Given the description of an element on the screen output the (x, y) to click on. 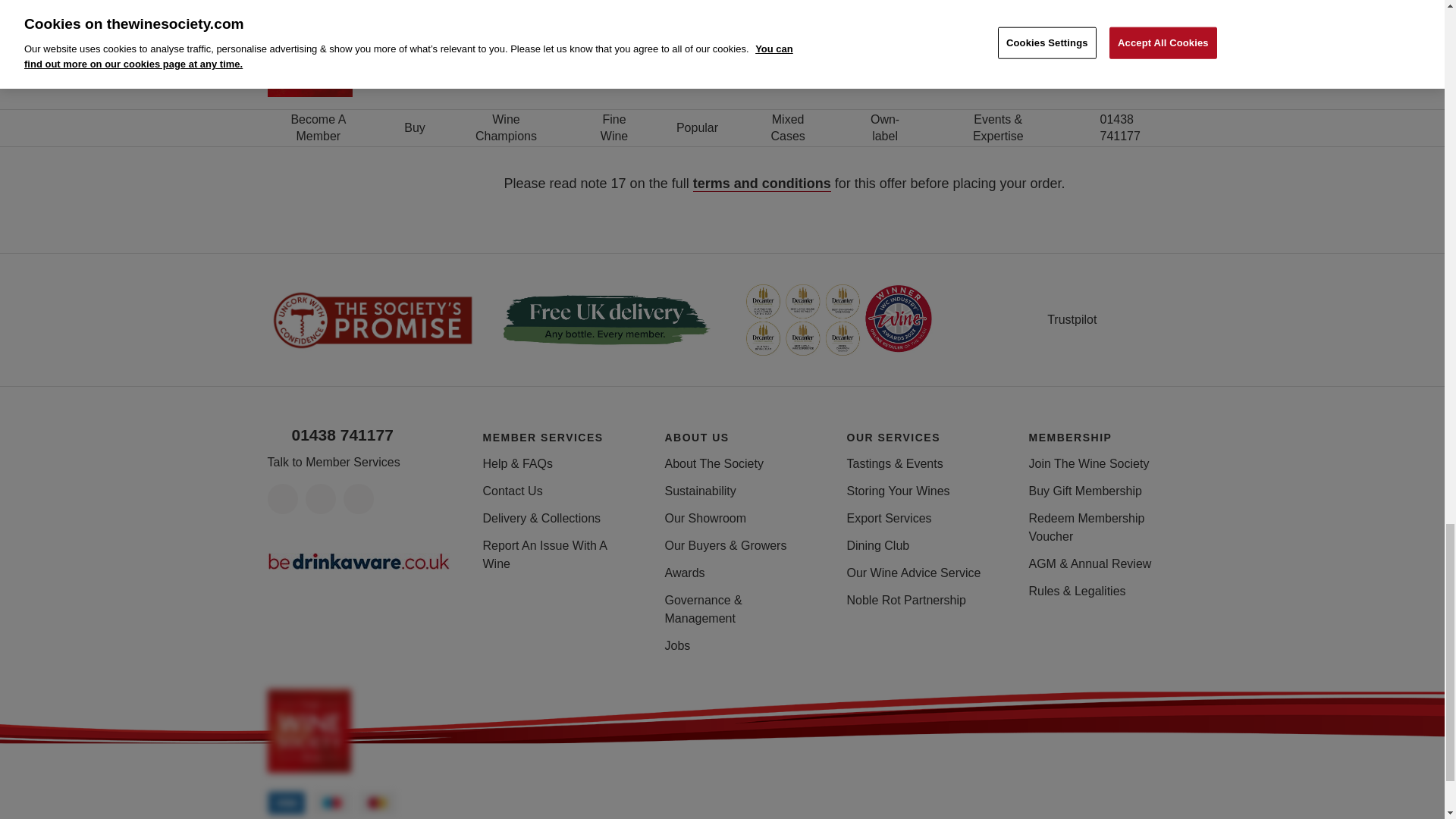
Mestro (331, 802)
Visa (285, 802)
Mastercard (377, 802)
